Given the description of an element on the screen output the (x, y) to click on. 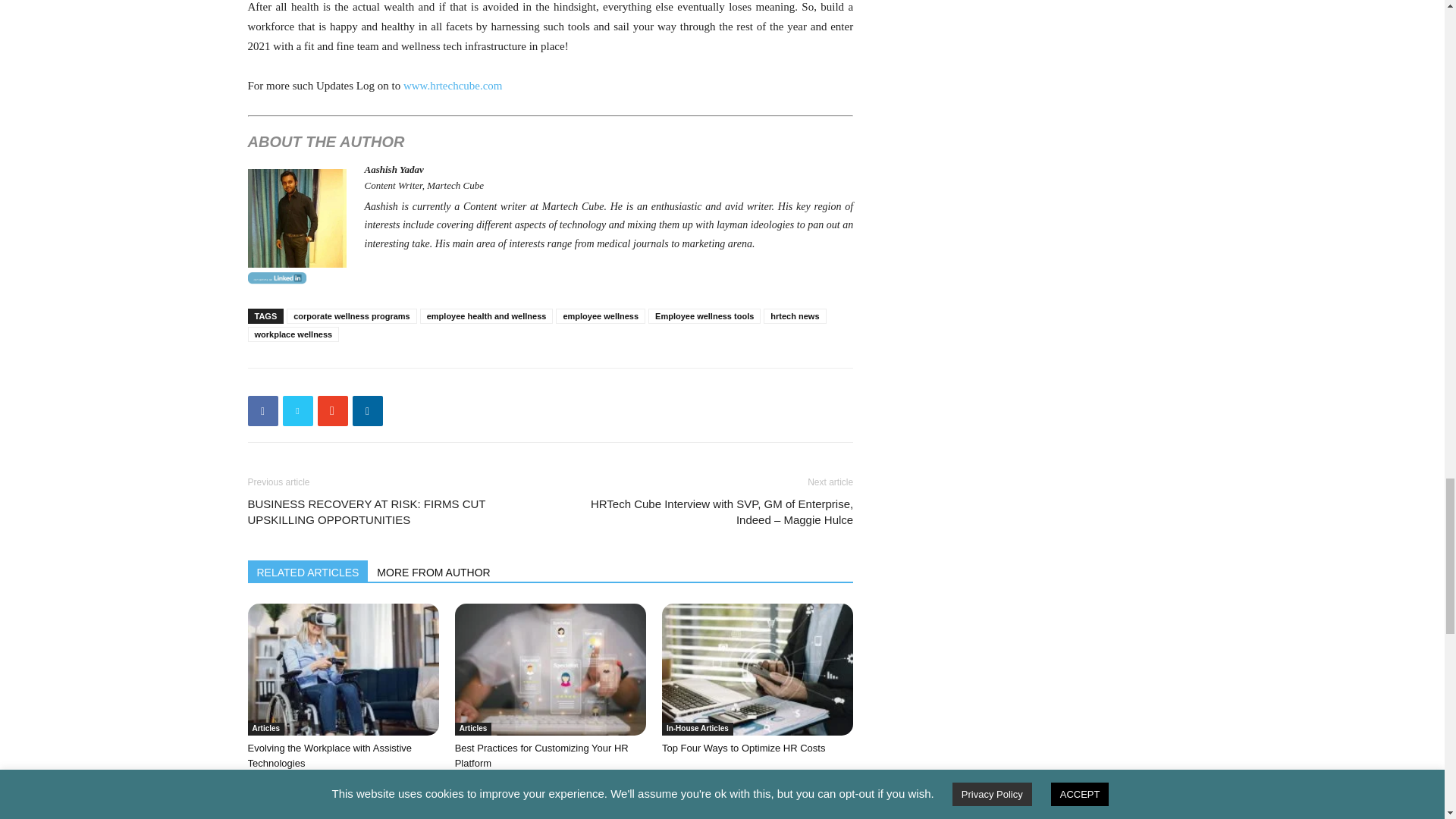
Best Practices for Customizing Your HR Platform (550, 669)
Evolving the Workplace with Assistive Technologies (342, 669)
Evolving the Workplace with Assistive Technologies (329, 755)
